Given the description of an element on the screen output the (x, y) to click on. 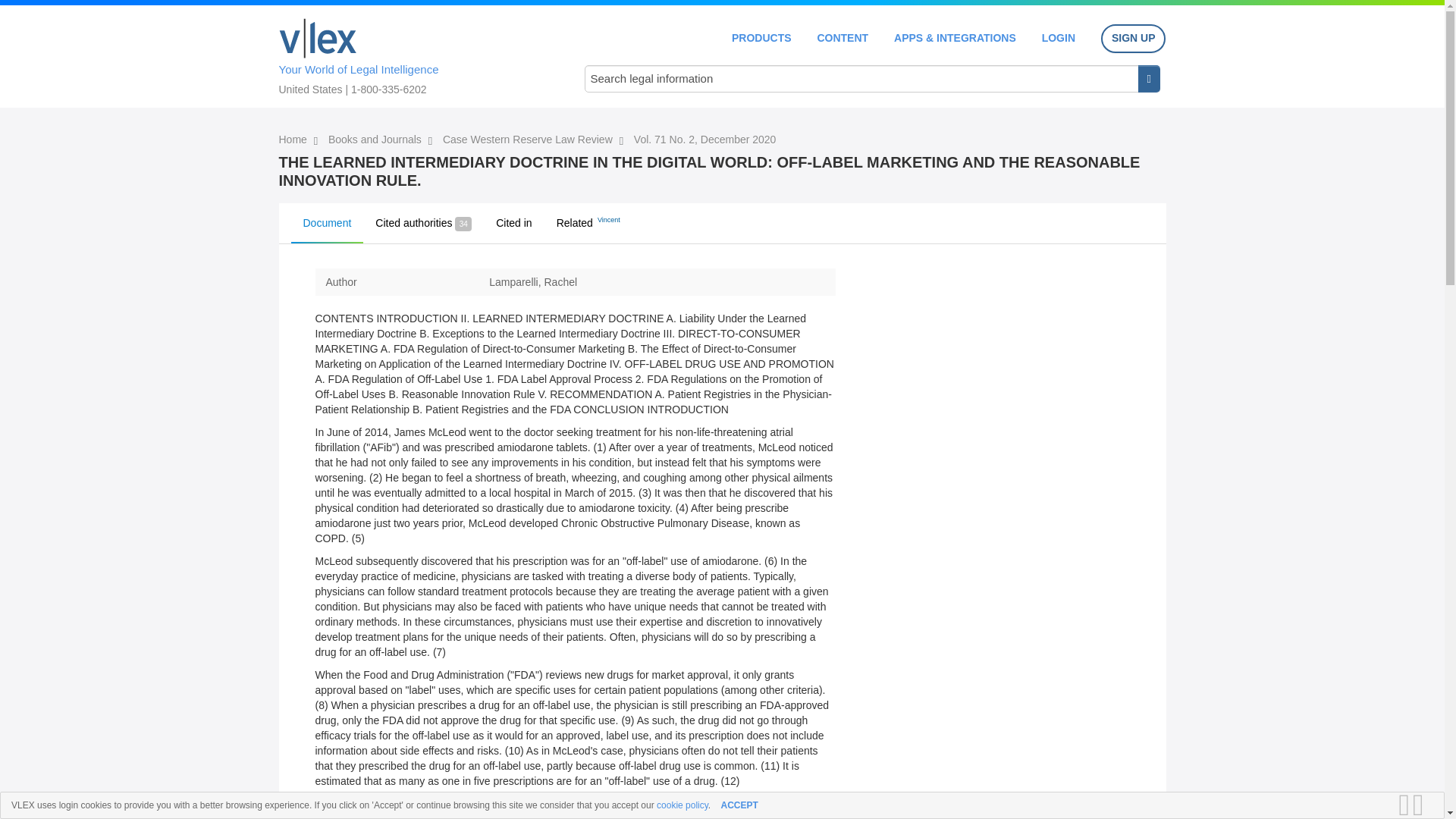
Vol. 71 No. 2, December 2020 (704, 139)
Books and Journals (377, 139)
ACCEPT (739, 805)
SIGN UP (1133, 38)
CONTENT (841, 37)
Case Western Reserve Law Review (528, 139)
LOGIN (1058, 37)
Home (317, 38)
cookie policy (681, 805)
Your World of Legal Intelligence (416, 53)
CLOSE (1422, 805)
Home (294, 139)
PRODUCTS (762, 37)
